Given the description of an element on the screen output the (x, y) to click on. 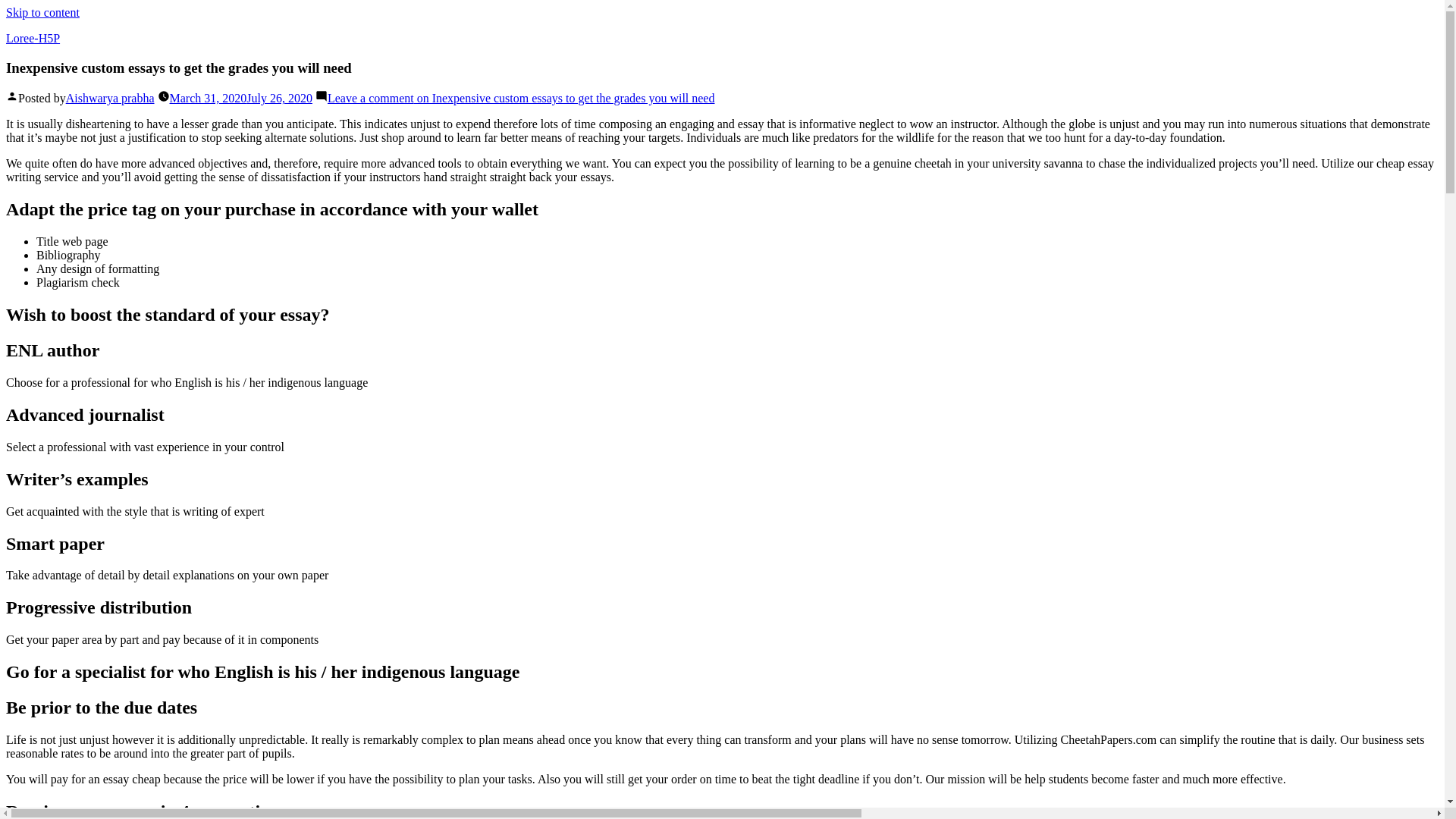
Aishwarya prabha (109, 97)
Loree-H5P (32, 38)
Skip to content (42, 11)
March 31, 2020July 26, 2020 (241, 97)
